Given the description of an element on the screen output the (x, y) to click on. 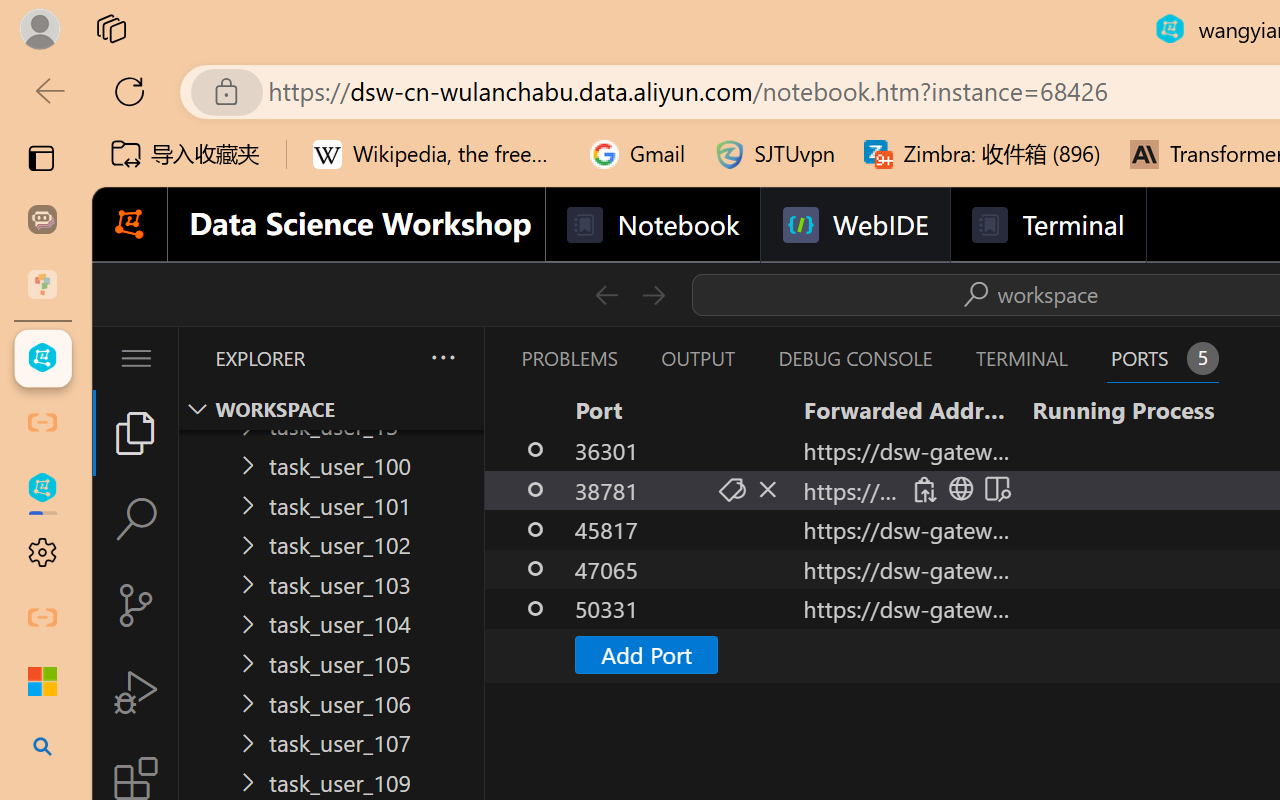
WebIDE (854, 225)
Stop Forwarding Port (Delete) (766, 489)
Set Port Label (F2) (730, 489)
Explorer Section: workspace (331, 409)
wangyian_dsw - DSW (42, 357)
Wikipedia, the free encyclopedia (437, 154)
wangyian_webcrawler - DSW (42, 487)
Terminal (Ctrl+`) (1021, 358)
Problems (Ctrl+Shift+M) (567, 358)
